Given the description of an element on the screen output the (x, y) to click on. 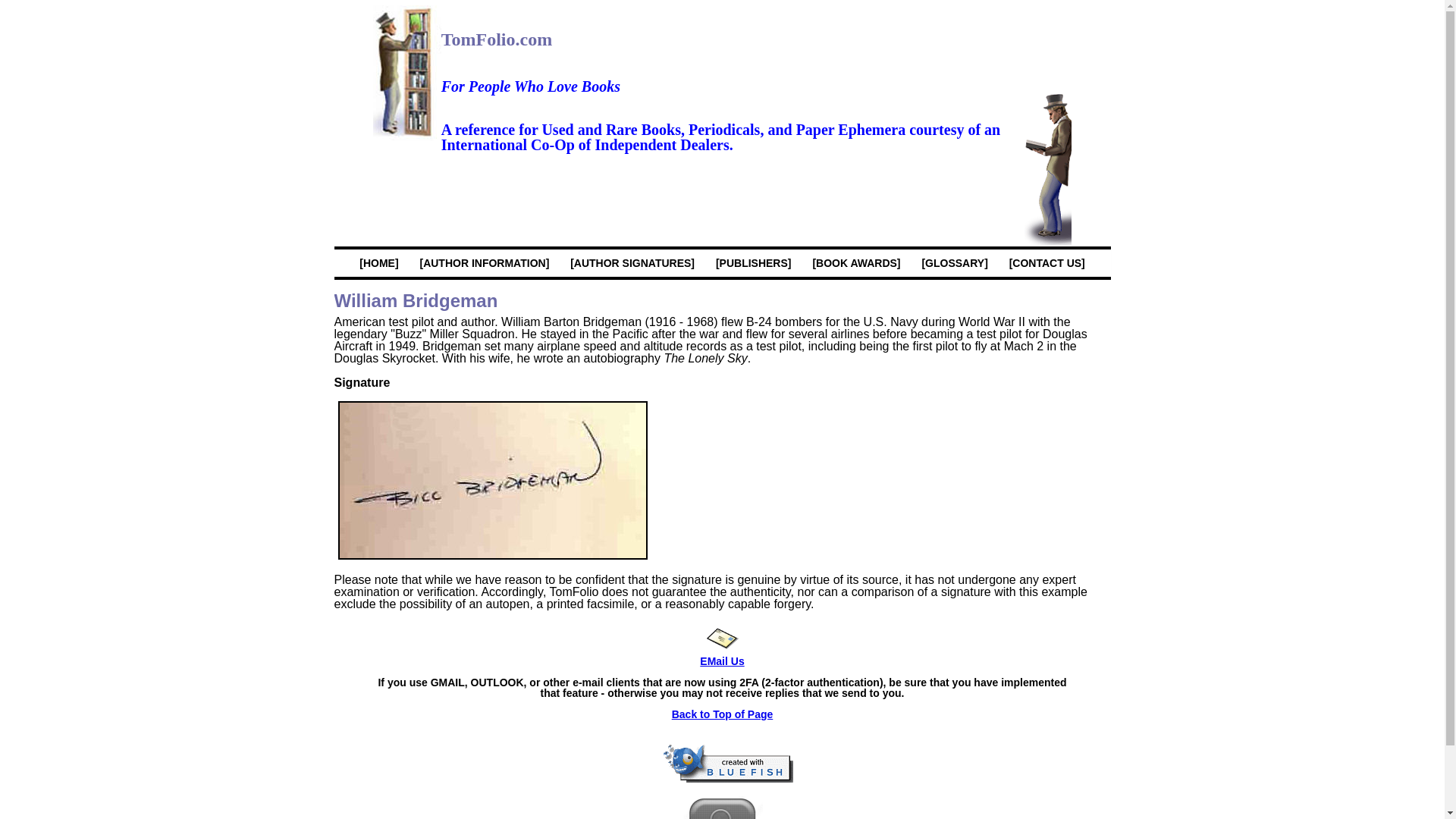
Back to Top of Page (722, 714)
Glossary (953, 262)
Publisher Information (753, 262)
Send EMail (722, 638)
Book Awards (855, 262)
Author Information (483, 262)
Author Signatures (631, 262)
TomFolio Home Page (378, 262)
EMail Us (722, 655)
